Given the description of an element on the screen output the (x, y) to click on. 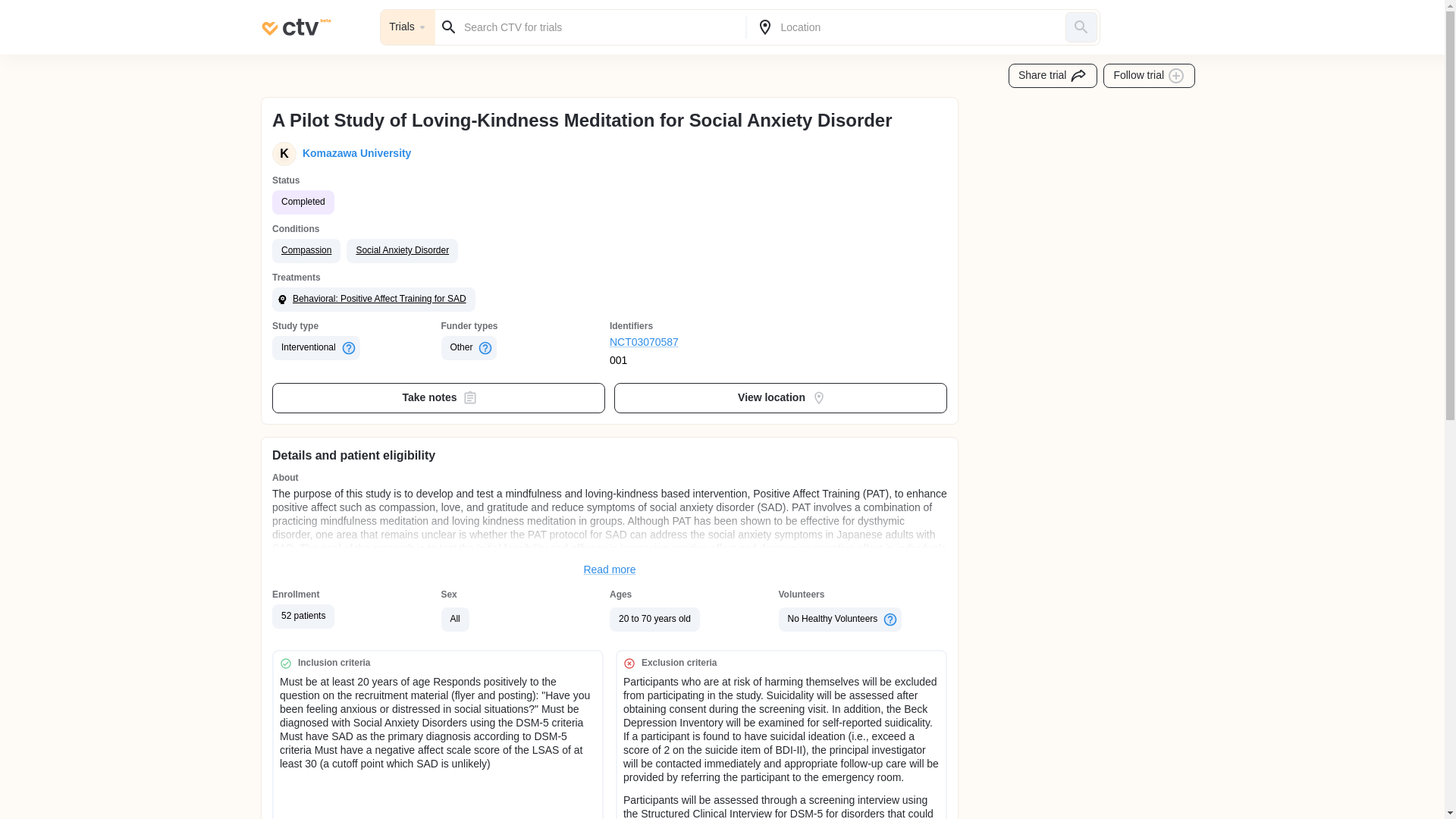
Trials (407, 27)
Take notes (438, 398)
Follow trial (1149, 75)
Komazawa University (353, 153)
NCT03070587 (694, 342)
View location (780, 398)
Read more (609, 570)
Share trial (1053, 75)
